Given the description of an element on the screen output the (x, y) to click on. 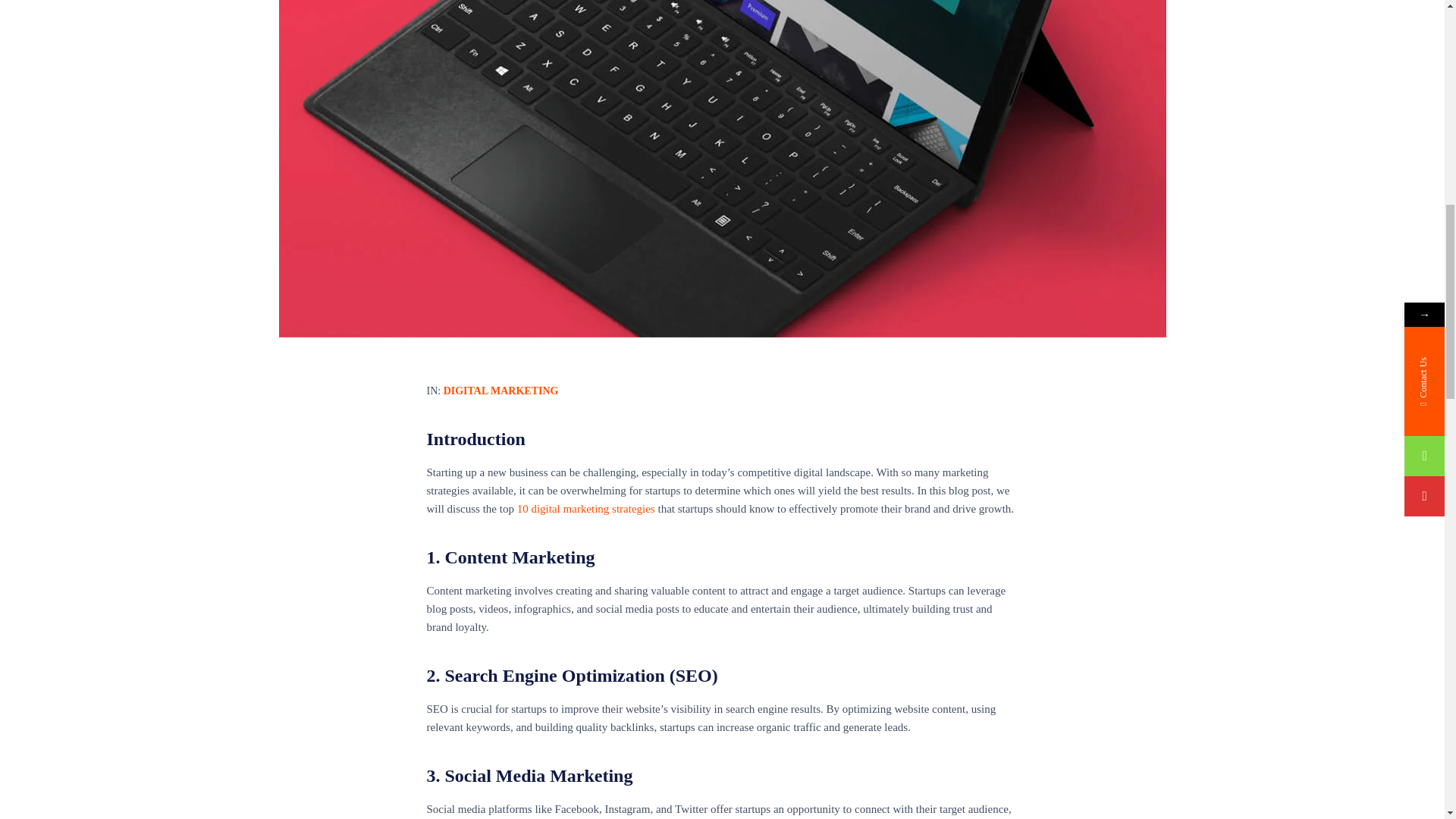
DIGITAL MARKETING (501, 390)
10 digital marketing strategies (585, 508)
